Given the description of an element on the screen output the (x, y) to click on. 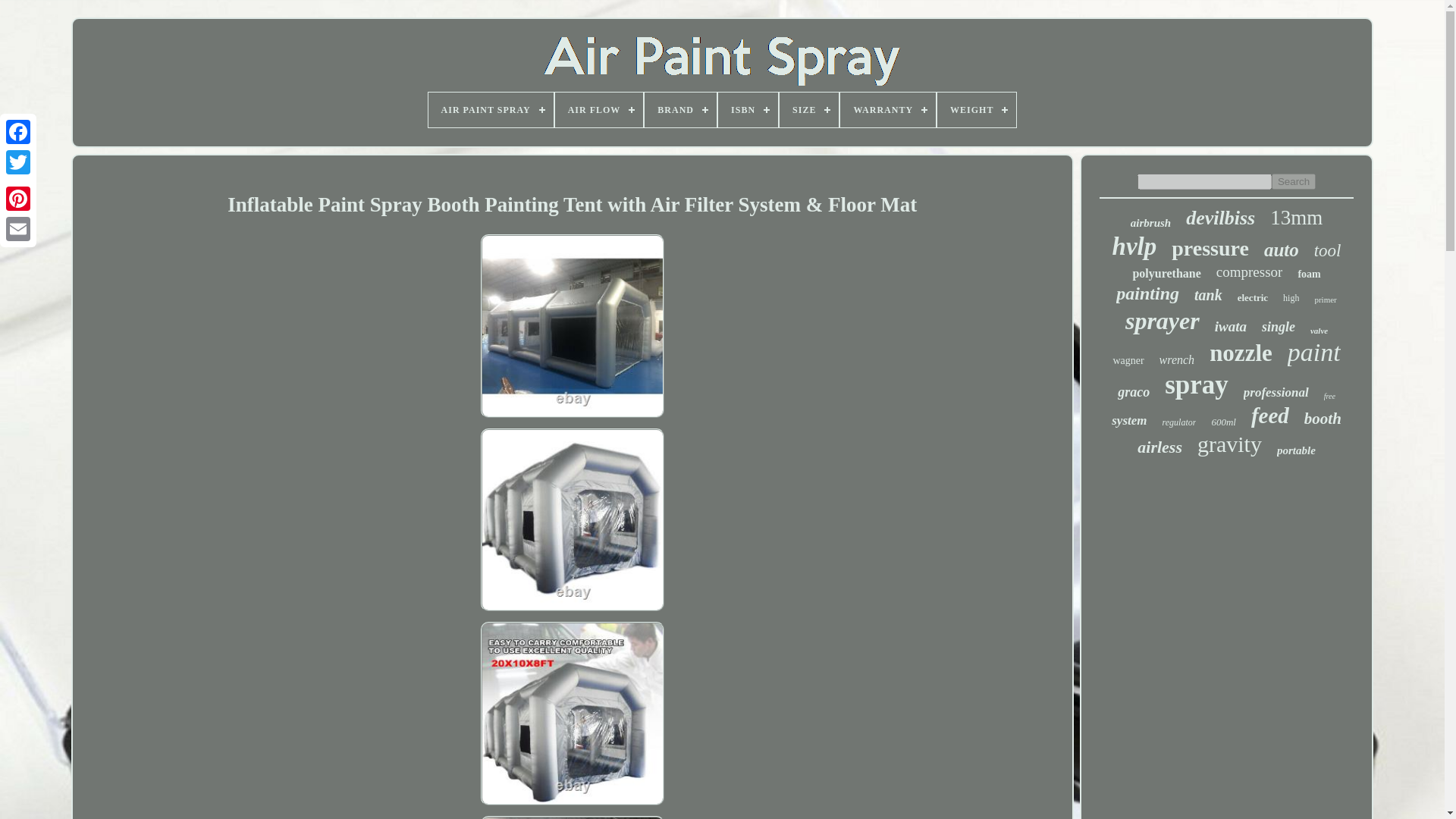
Search (1293, 181)
ISBN (747, 109)
AIR PAINT SPRAY (490, 109)
BRAND (680, 109)
AIR FLOW (598, 109)
